Given the description of an element on the screen output the (x, y) to click on. 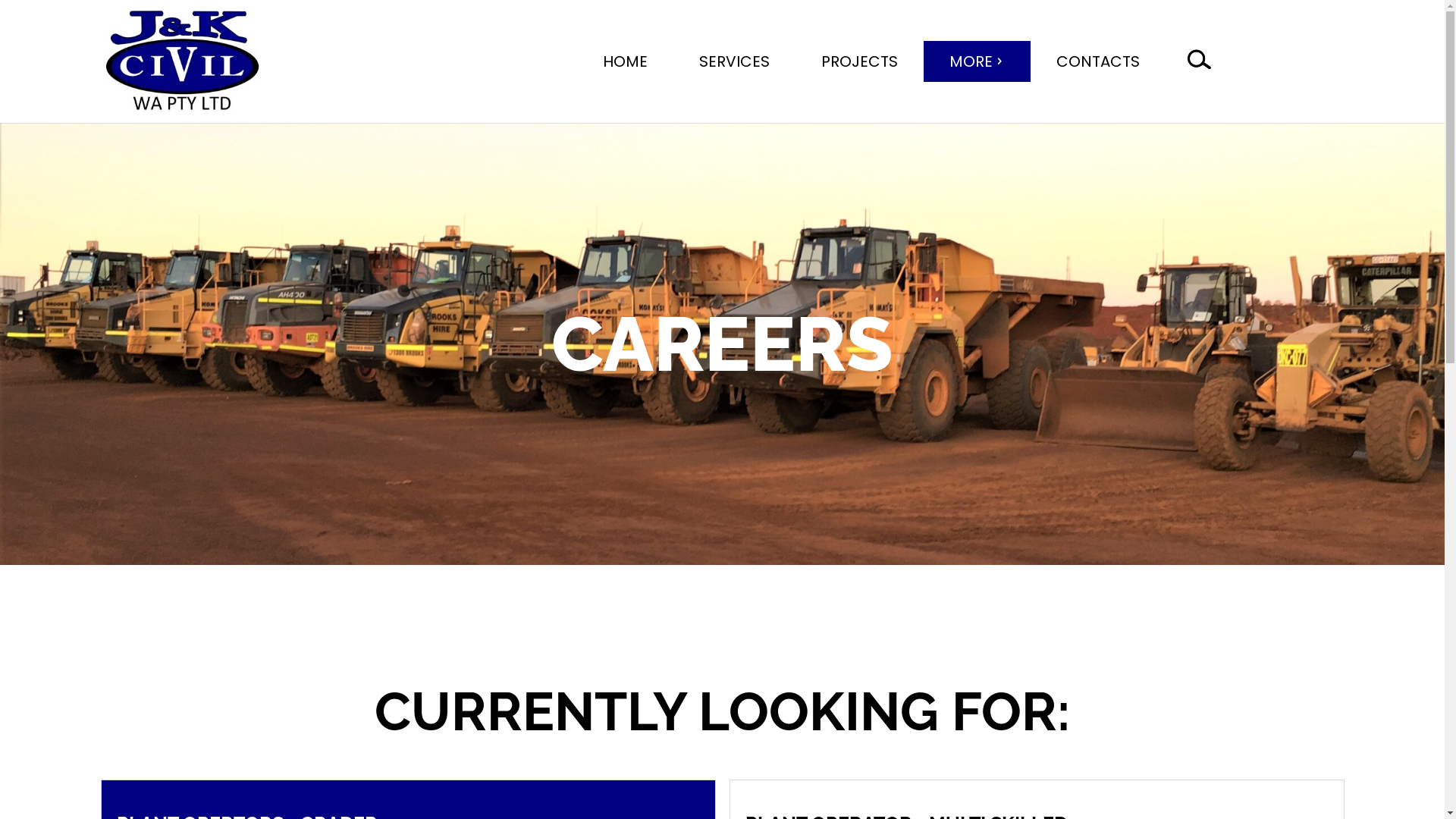
SERVICES Element type: text (734, 60)
CONTACTS Element type: text (1096, 60)
PROJECTS Element type: text (858, 60)
HOME Element type: text (624, 60)
JK Civil (WA) Element type: hover (182, 61)
MORE Element type: text (976, 60)
